Given the description of an element on the screen output the (x, y) to click on. 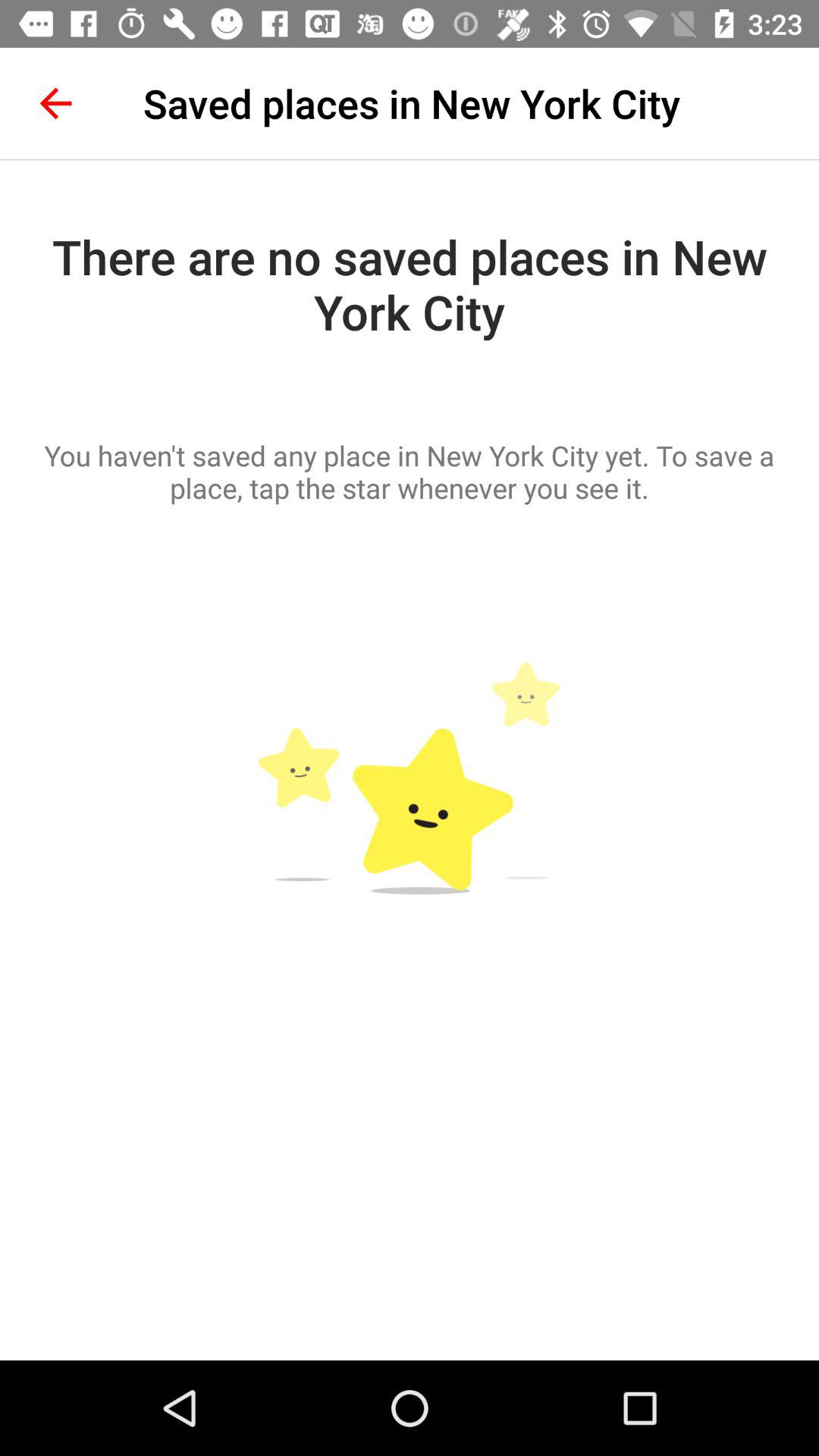
turn off icon at the top left corner (55, 103)
